Given the description of an element on the screen output the (x, y) to click on. 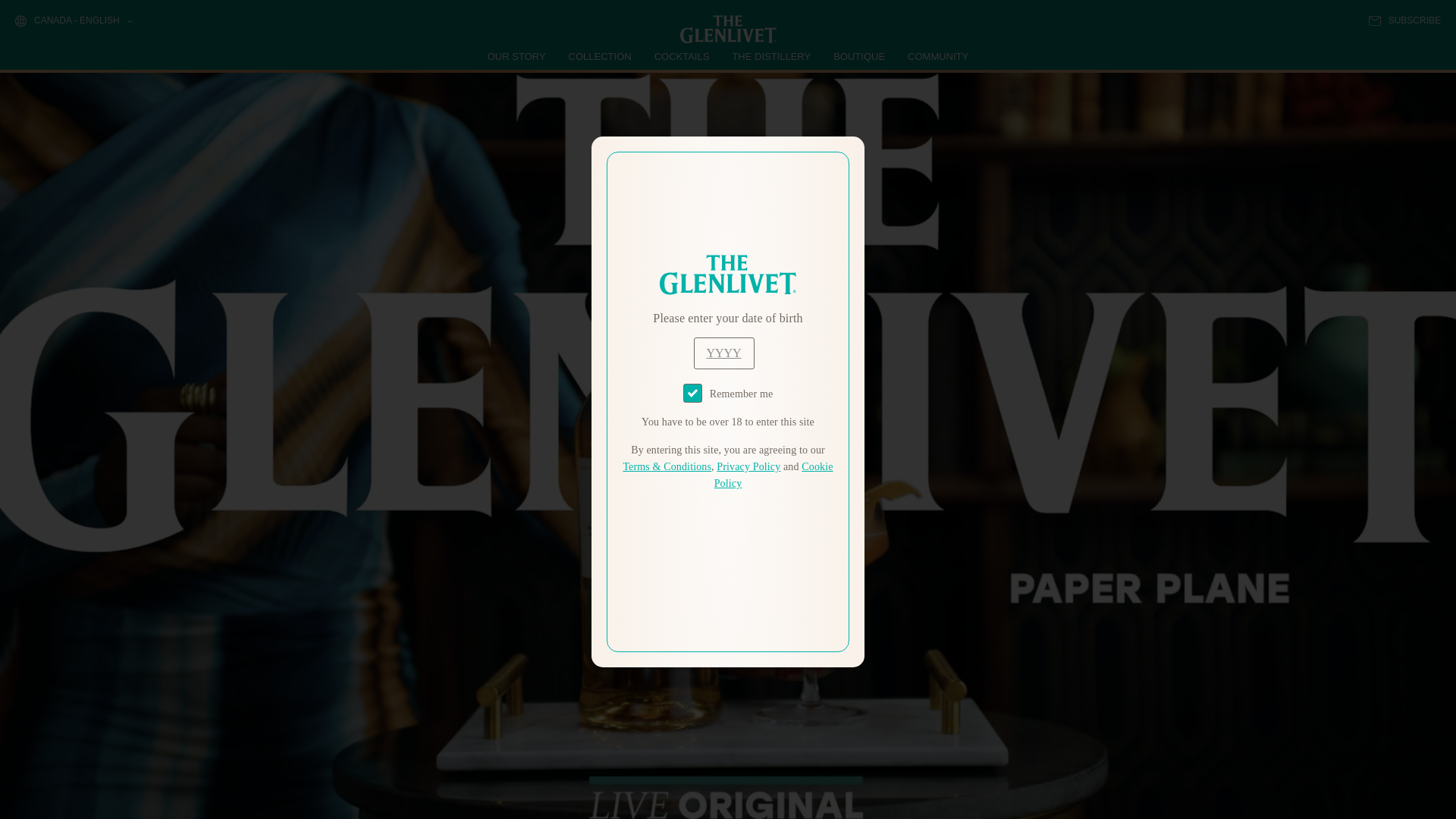
THE DISTILLERY (771, 56)
SUBSCRIBE (1404, 20)
Privacy Policy (748, 466)
CANADA - ENGLISH (73, 21)
OUR STORY (516, 56)
BOUTIQUE (858, 56)
Cookie Policy (773, 474)
COLLECTION (600, 56)
COMMUNITY (937, 56)
year (723, 353)
